Given the description of an element on the screen output the (x, y) to click on. 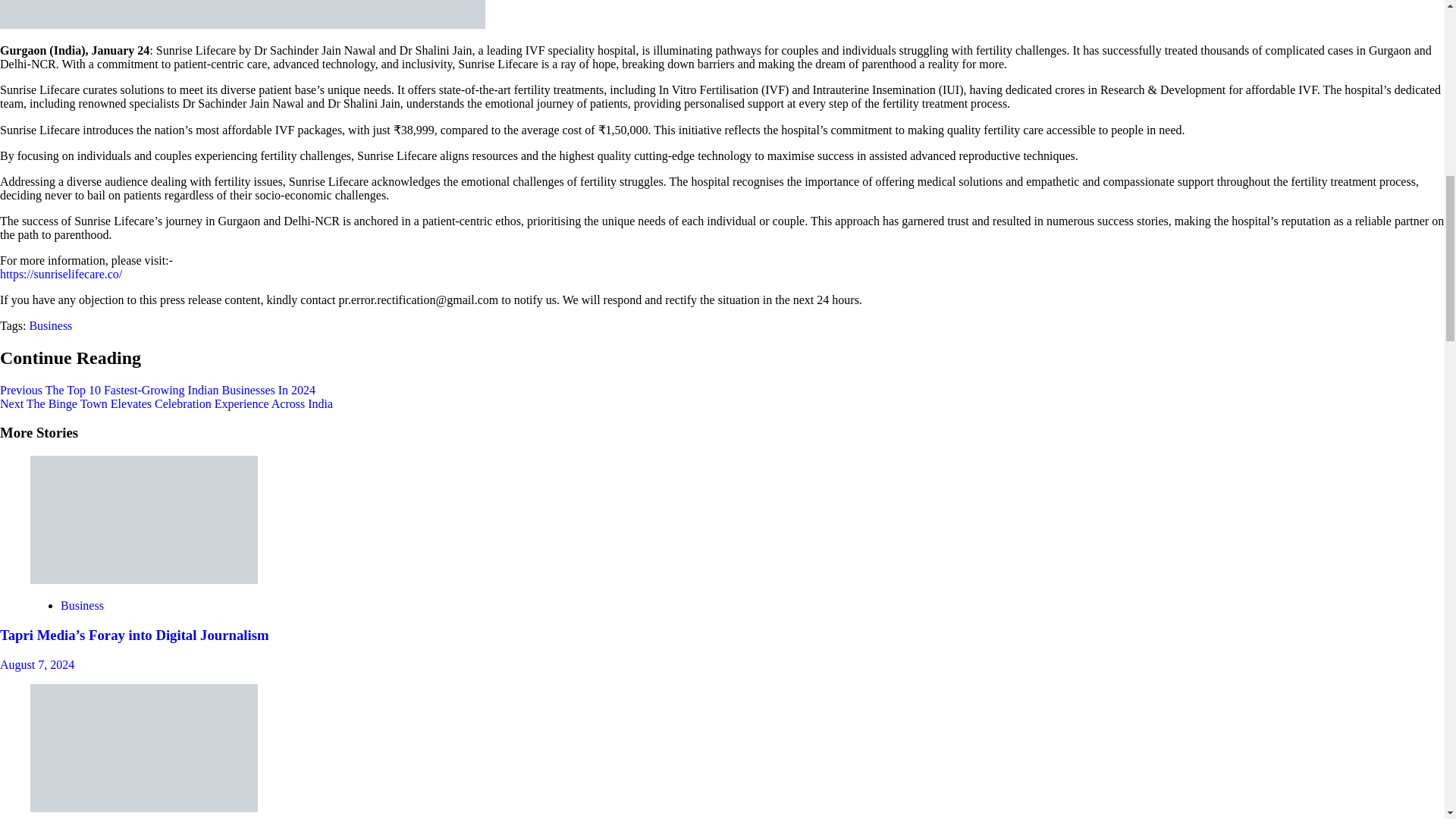
August 7, 2024 (37, 664)
Business (50, 325)
Business (82, 604)
